Given the description of an element on the screen output the (x, y) to click on. 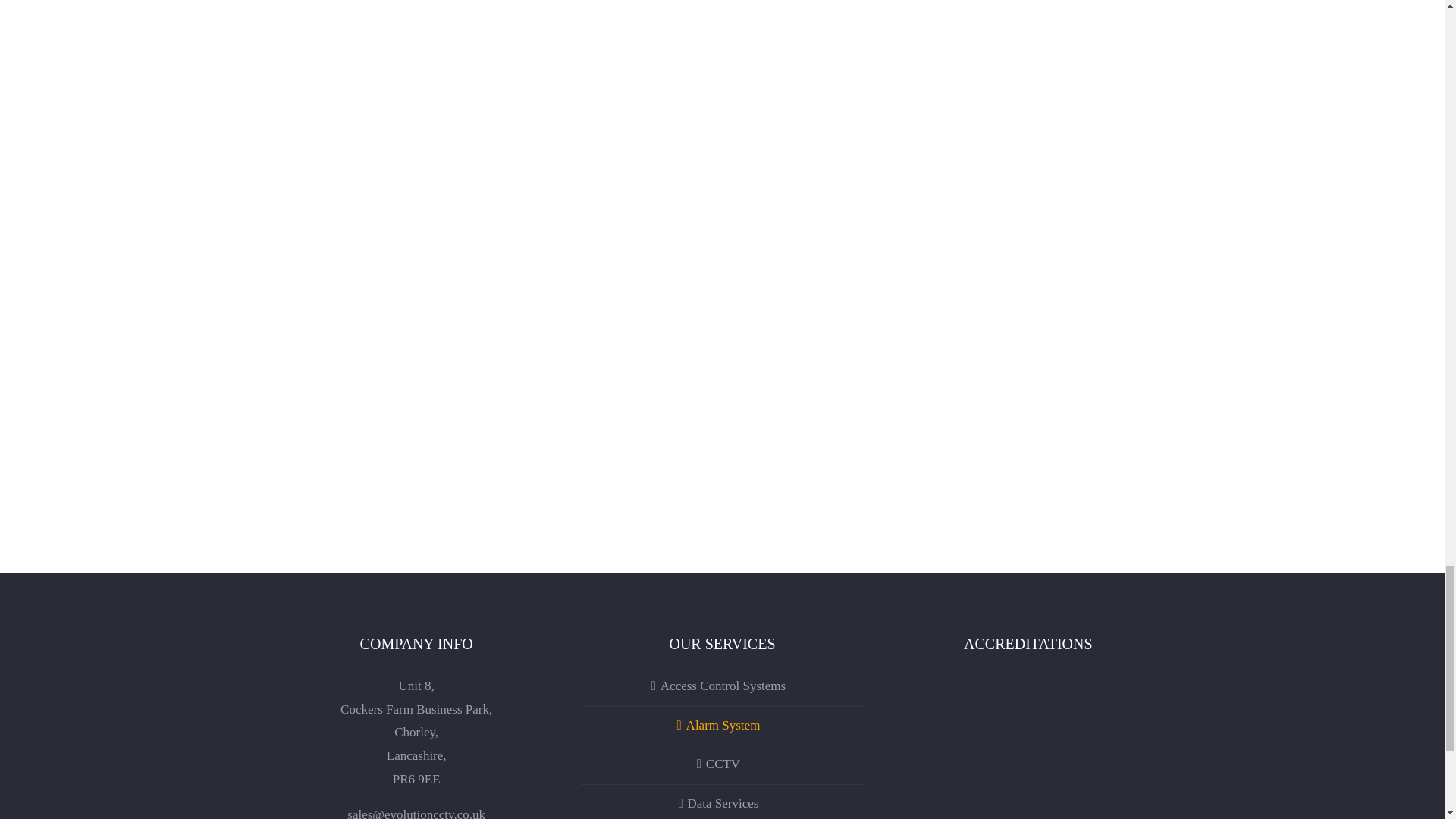
Accreditation's (1027, 746)
